Given the description of an element on the screen output the (x, y) to click on. 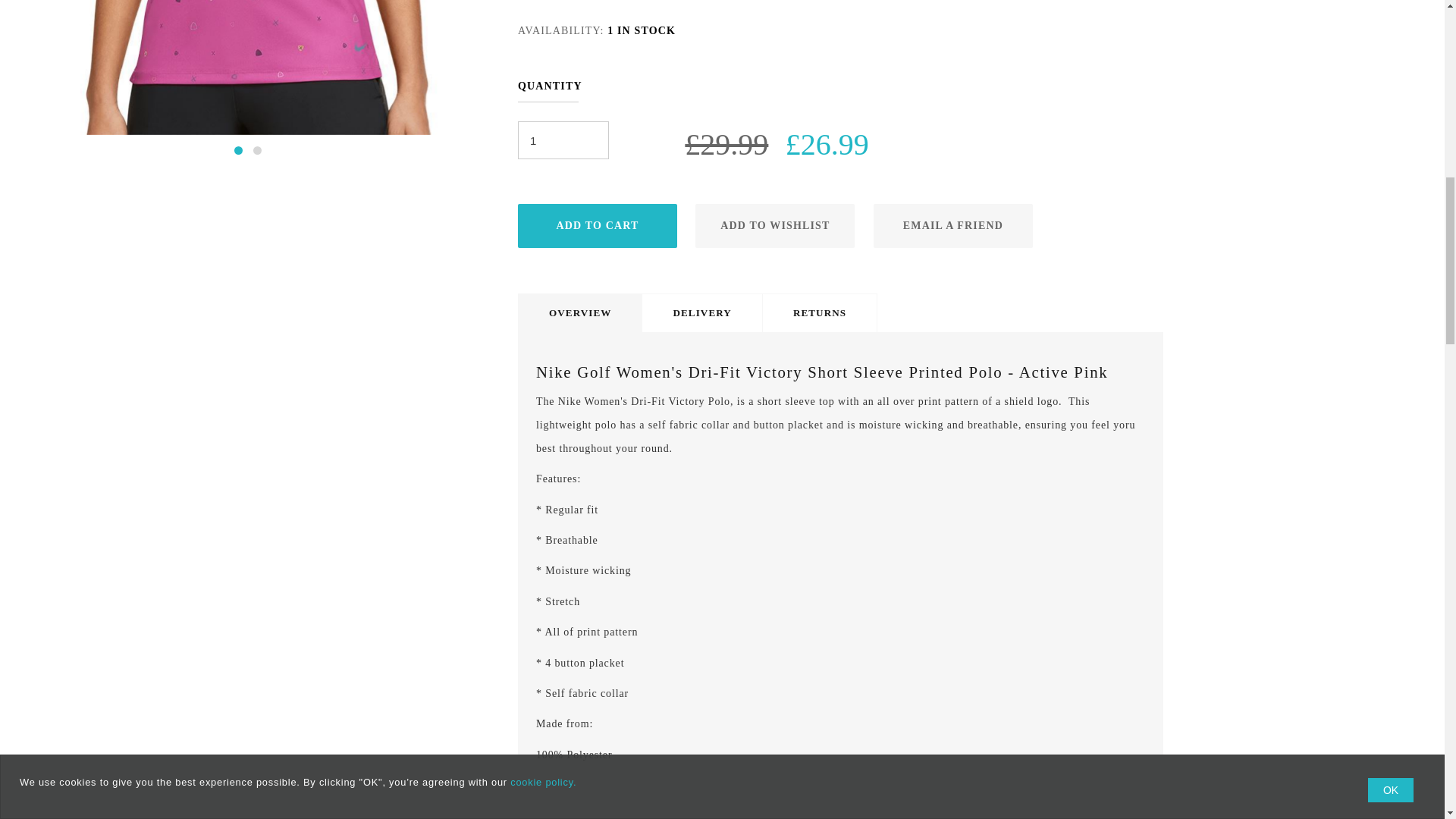
ADD TO CART (597, 225)
ADD TO WISHLIST (774, 225)
1 (563, 139)
EMAIL A FRIEND (952, 225)
